Given the description of an element on the screen output the (x, y) to click on. 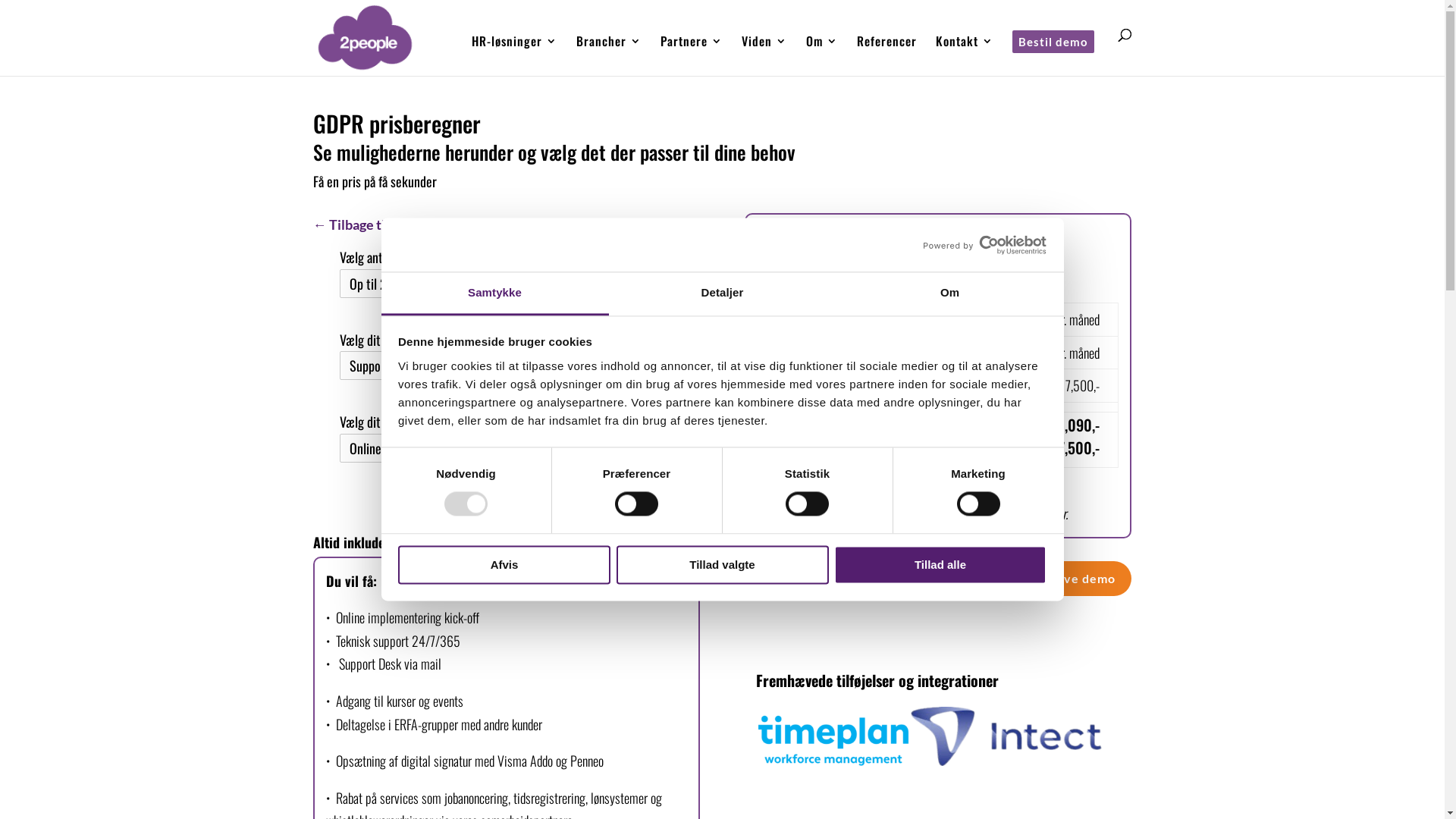
Brancher Element type: text (608, 55)
Om Element type: text (949, 293)
Viden Element type: text (764, 55)
Samtykke Element type: text (494, 293)
Partnere Element type: text (690, 55)
Referencer Element type: text (886, 55)
Om Element type: text (821, 55)
Tillad alle Element type: text (940, 564)
Tillad valgte Element type: text (721, 564)
Kontakt Element type: text (964, 55)
Se live demo Element type: text (1076, 578)
Detaljer Element type: text (721, 293)
Bestil demo Element type: text (1052, 52)
Afvis Element type: text (504, 564)
